Given the description of an element on the screen output the (x, y) to click on. 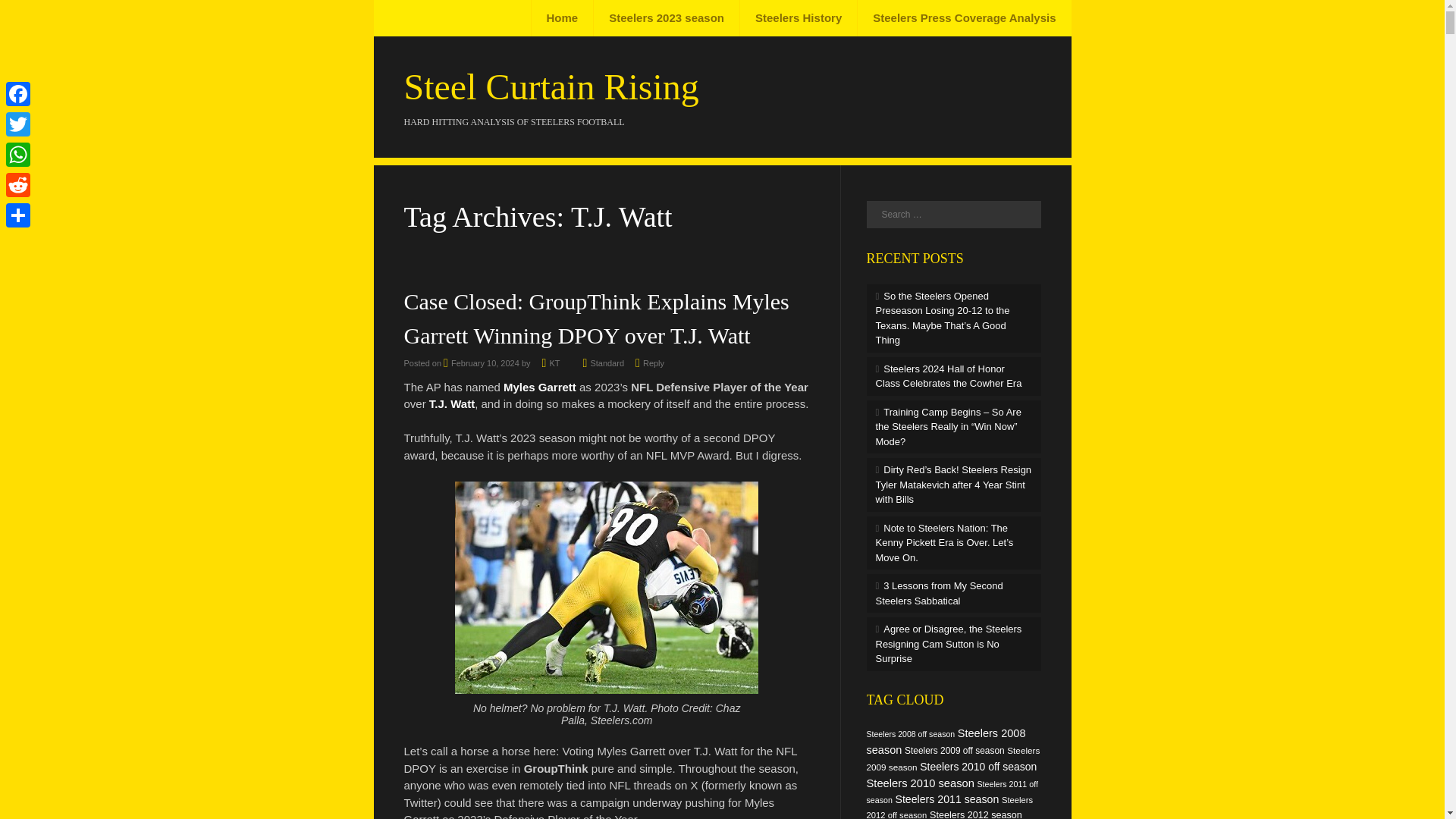
Steel Curtain Rising (550, 86)
T.J. Watt (451, 403)
Steel Curtain Rising (550, 86)
Standard (606, 362)
Myles Garrett (539, 386)
Skip to content (429, 18)
Steelers Press Coverage Analysis (963, 18)
Permalink to  (606, 362)
Skip to content (429, 18)
Steelers History (798, 18)
